Given the description of an element on the screen output the (x, y) to click on. 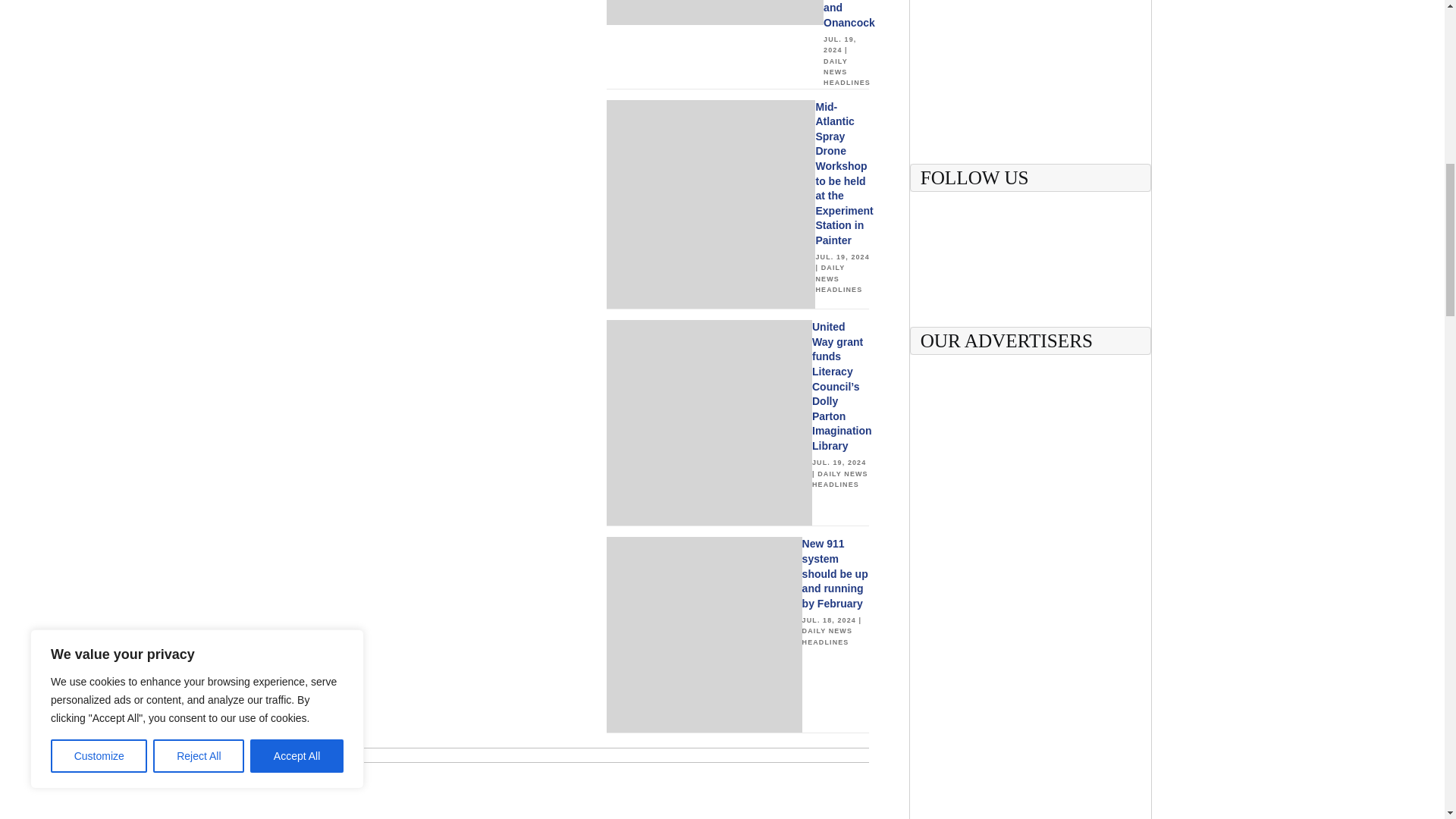
Likebox Iframe (1030, 264)
